Given the description of an element on the screen output the (x, y) to click on. 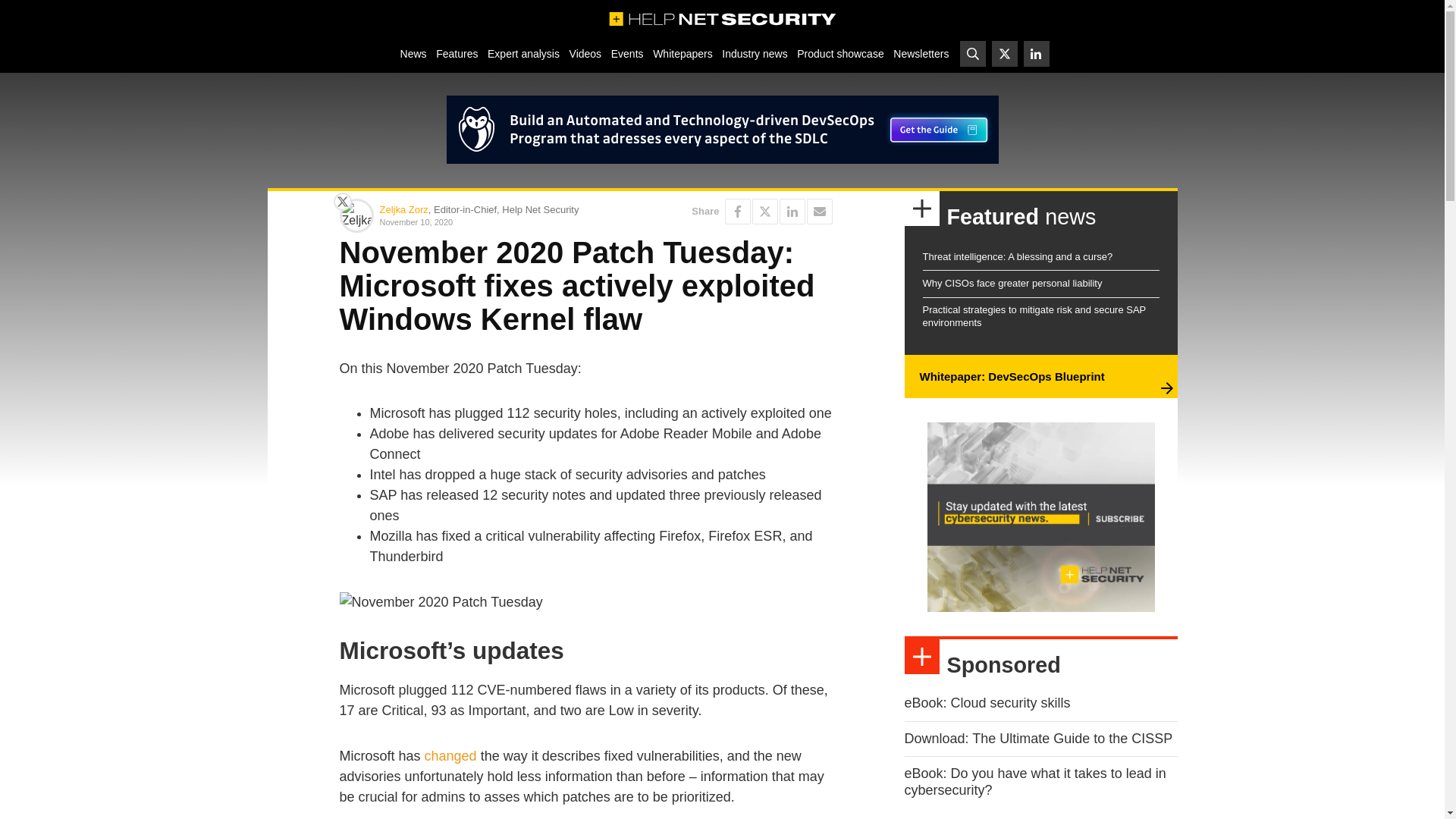
changed (451, 755)
November 10, 2020 (478, 221)
Product showcase (840, 53)
Videos (584, 53)
Events (626, 53)
Industry news (754, 53)
Patch (585, 602)
Expert analysis (523, 53)
Features (456, 53)
Zeljka Zorz (403, 209)
News (412, 53)
